Given the description of an element on the screen output the (x, y) to click on. 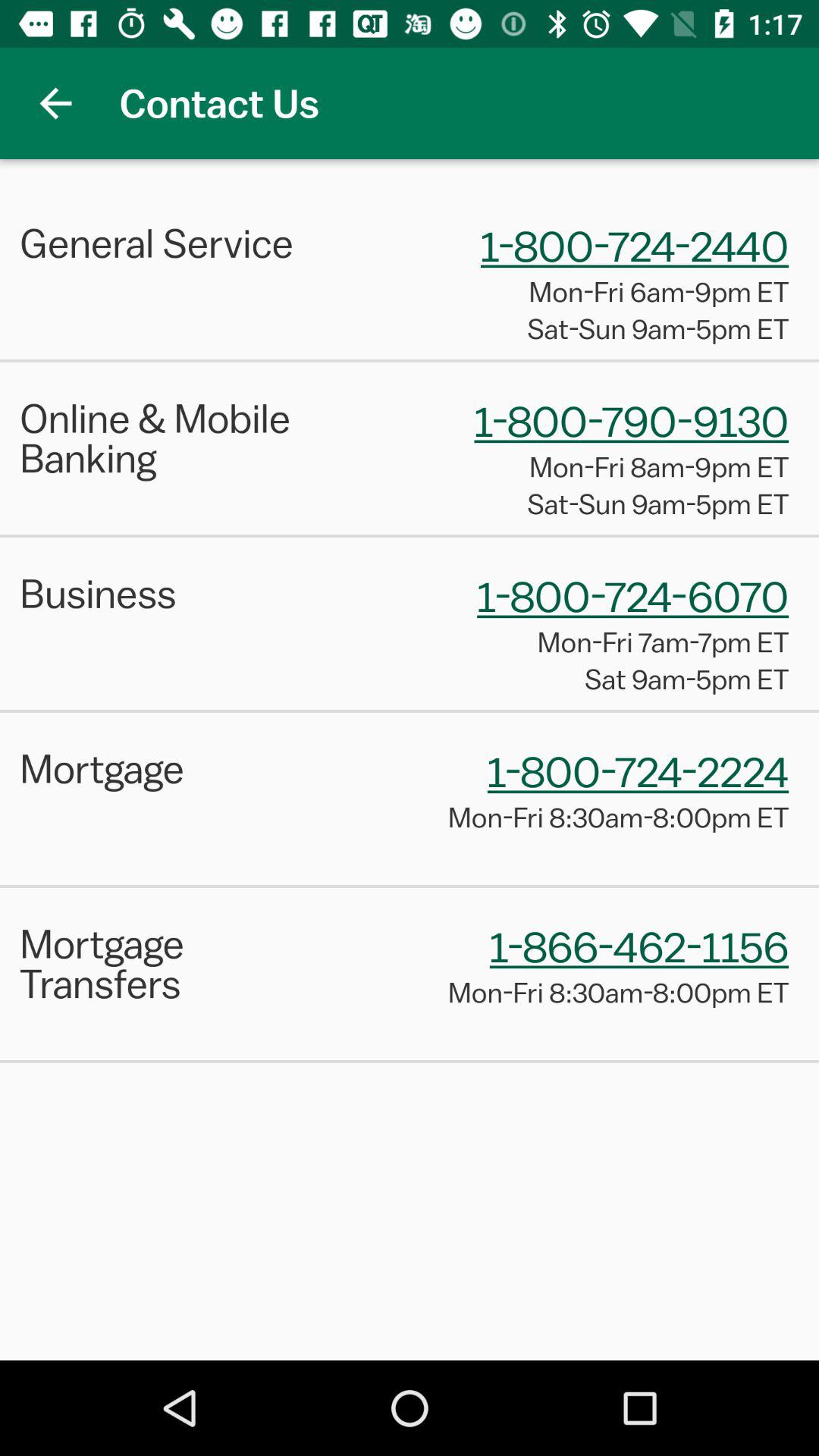
choose the app next to the contact us item (55, 103)
